Given the description of an element on the screen output the (x, y) to click on. 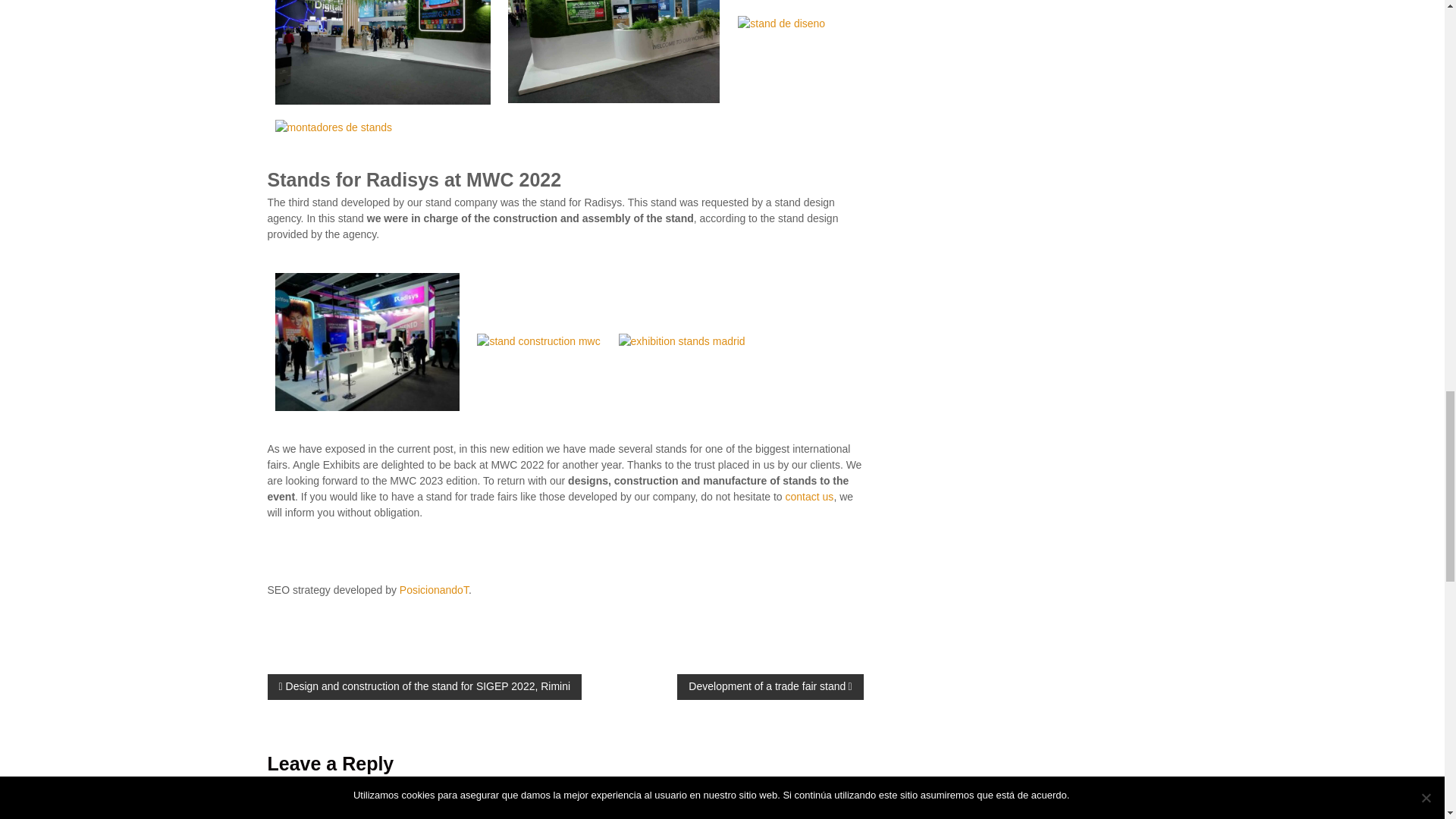
Development of a trade fair stand (770, 687)
contact us (810, 496)
Design and construction of the stand for SIGEP 2022, Rimini (423, 687)
PosicionandoT (433, 589)
